Given the description of an element on the screen output the (x, y) to click on. 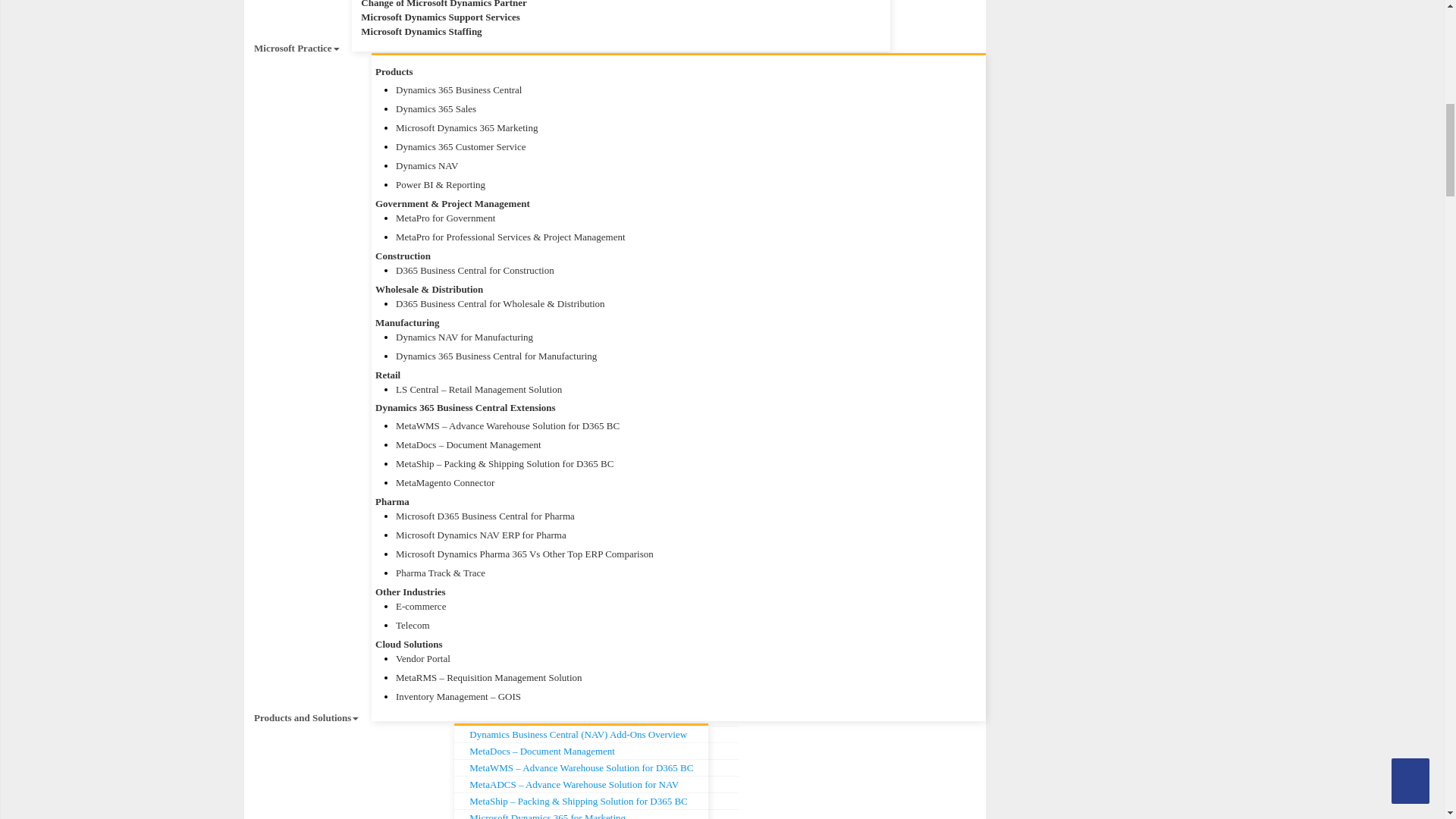
Microsoft Practice (296, 48)
